Given the description of an element on the screen output the (x, y) to click on. 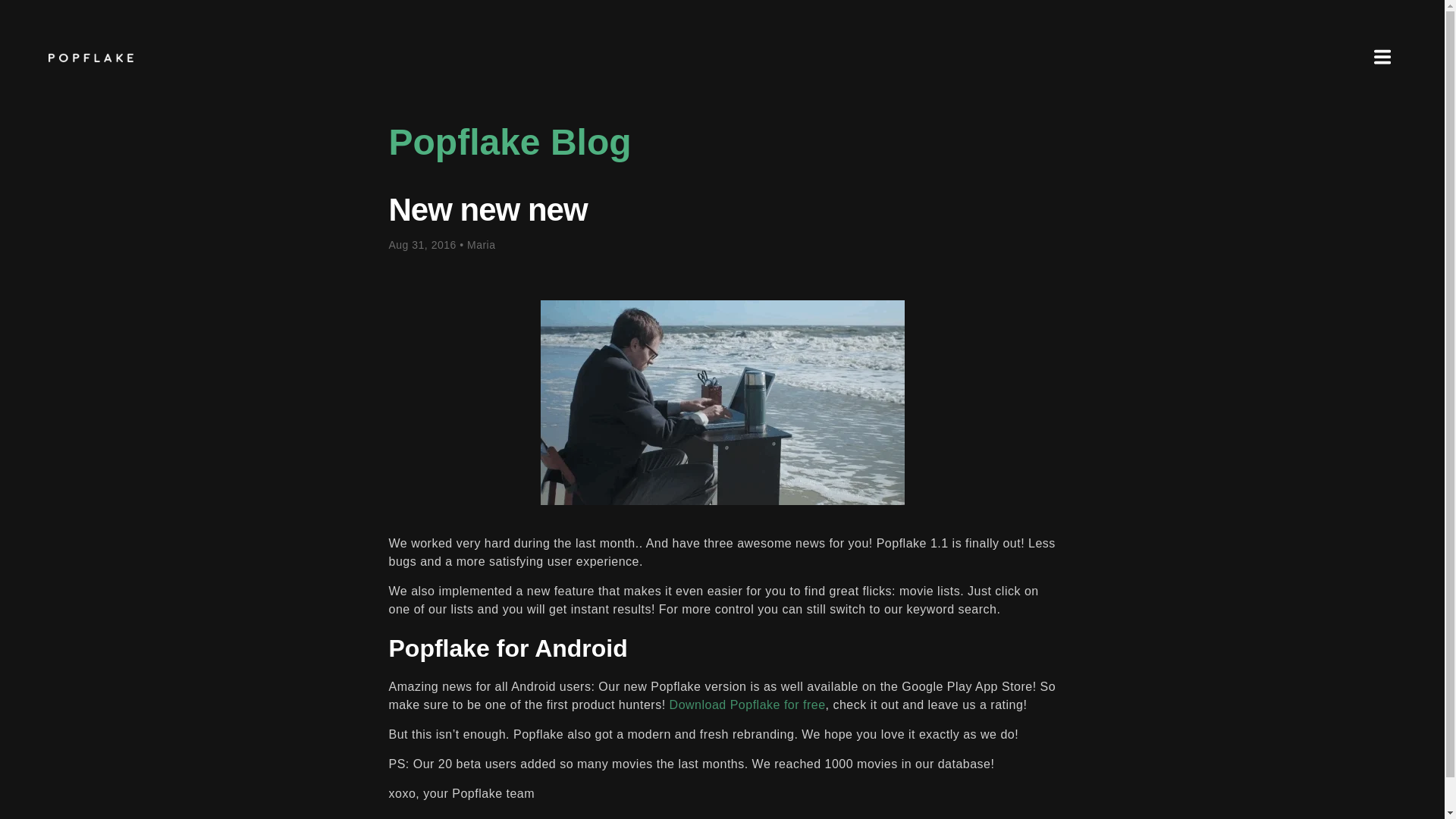
Download Popflake for free (747, 704)
Popflake Blog (509, 142)
POPFLAKE (90, 57)
